Given the description of an element on the screen output the (x, y) to click on. 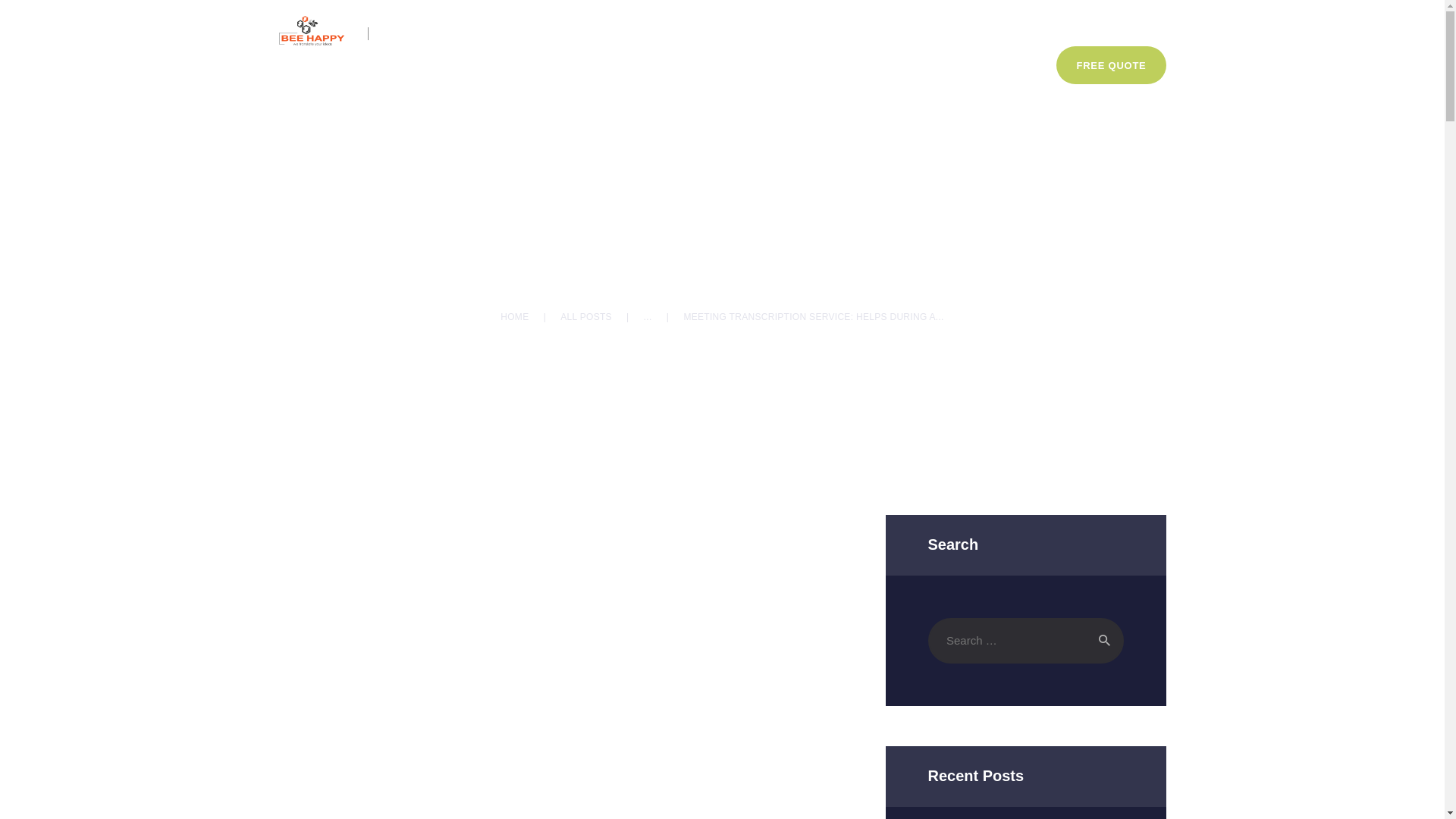
FREE QUOTE (1111, 64)
June 24, 2020 (706, 215)
Like (855, 215)
Meeting Transcription (612, 215)
0Likes (855, 215)
ALL POSTS (585, 317)
3043Views (790, 215)
081311717979 (431, 33)
HOME (514, 317)
